Given the description of an element on the screen output the (x, y) to click on. 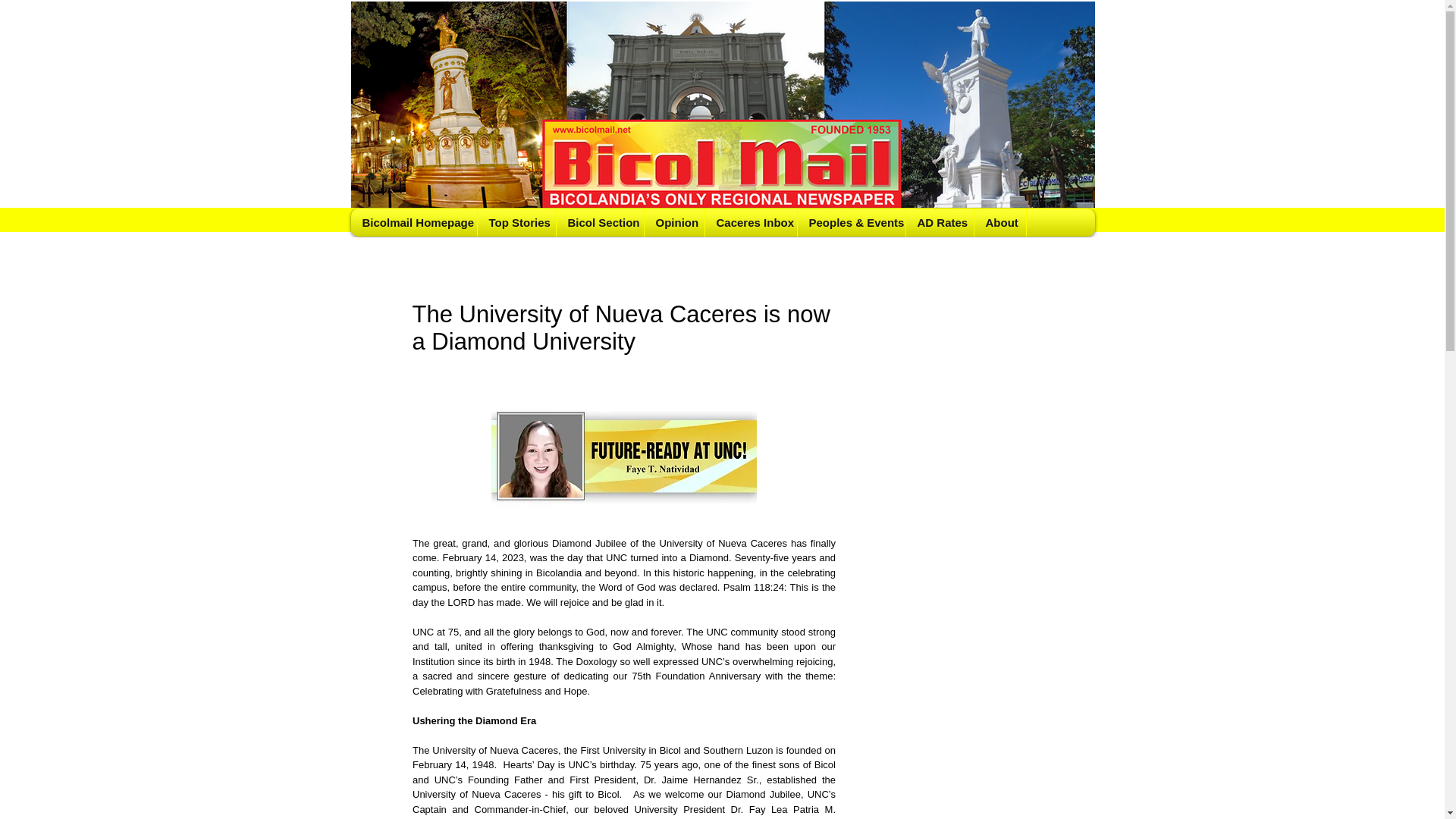
About (1000, 222)
Opinion (673, 222)
Bicolmail Homepage (414, 222)
Bicol Section (599, 222)
Top Stories (515, 222)
Caceres Inbox (749, 222)
AD Rates (939, 222)
